Given the description of an element on the screen output the (x, y) to click on. 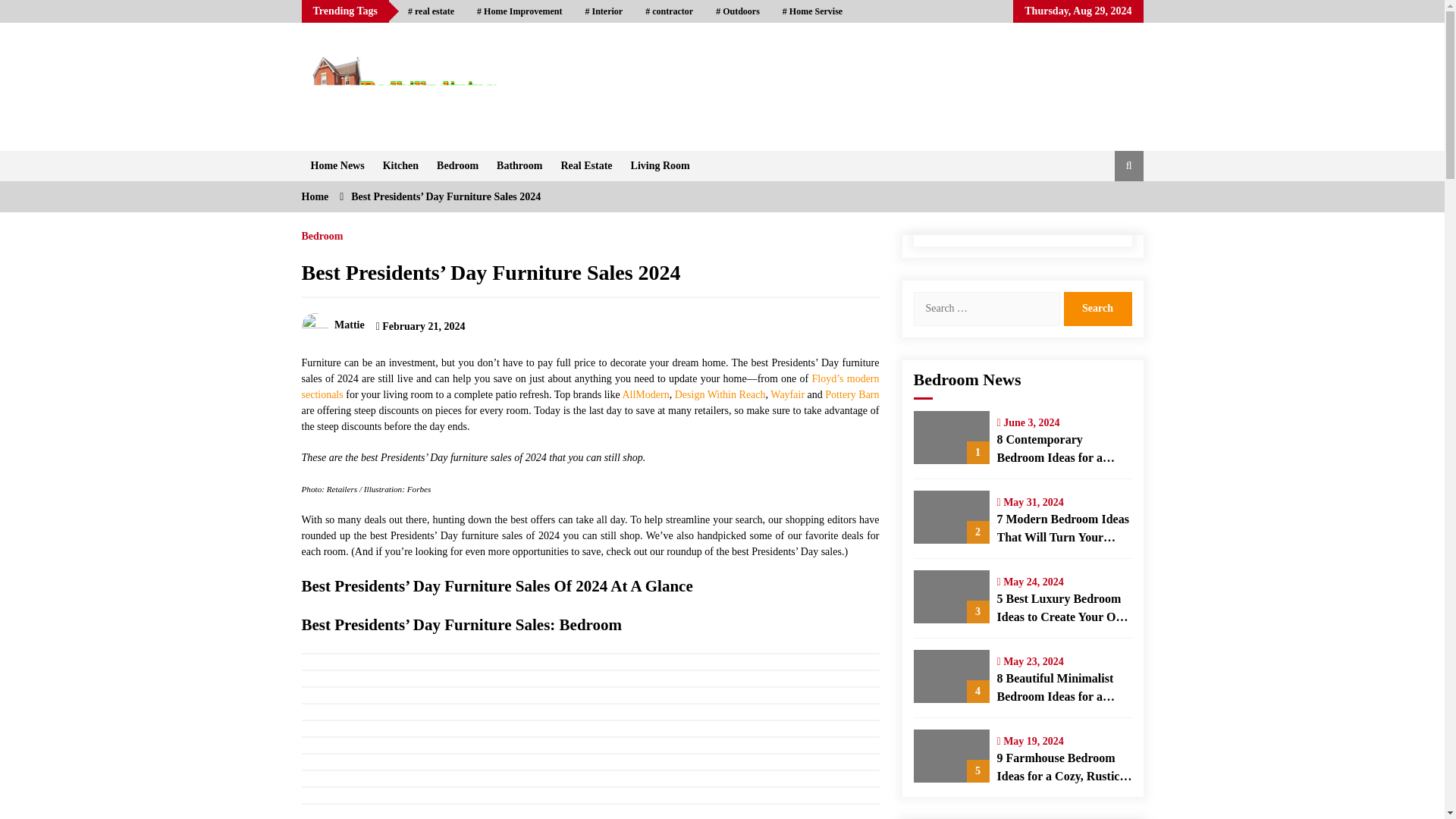
Outdoors (737, 11)
Mattie (333, 324)
Bedroom (457, 165)
Bathroom (519, 165)
Living Room (659, 165)
Home (315, 196)
Interior (603, 11)
AllModern (644, 394)
Search (1096, 308)
Search (1096, 308)
